Given the description of an element on the screen output the (x, y) to click on. 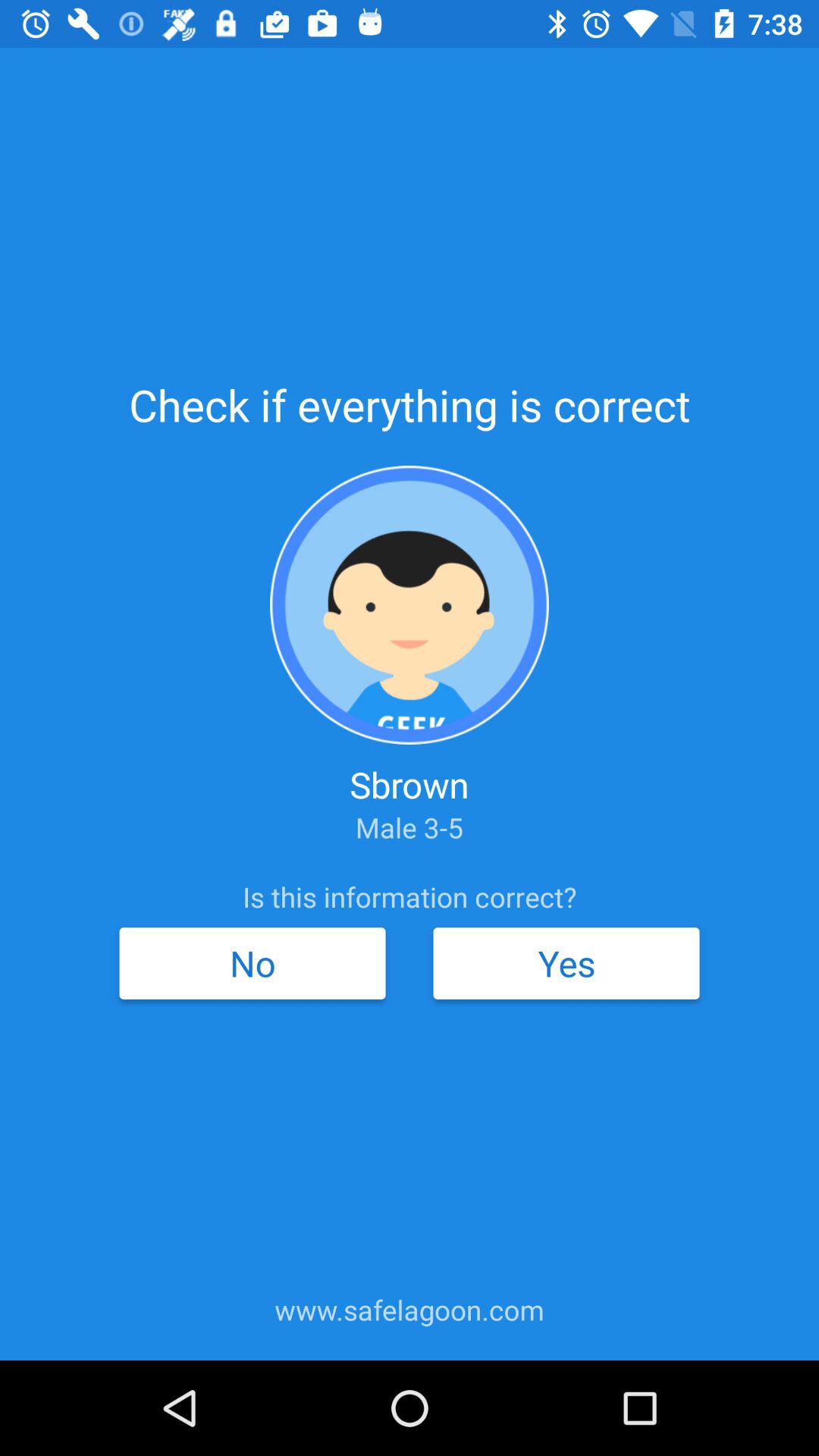
jump until yes (566, 963)
